Given the description of an element on the screen output the (x, y) to click on. 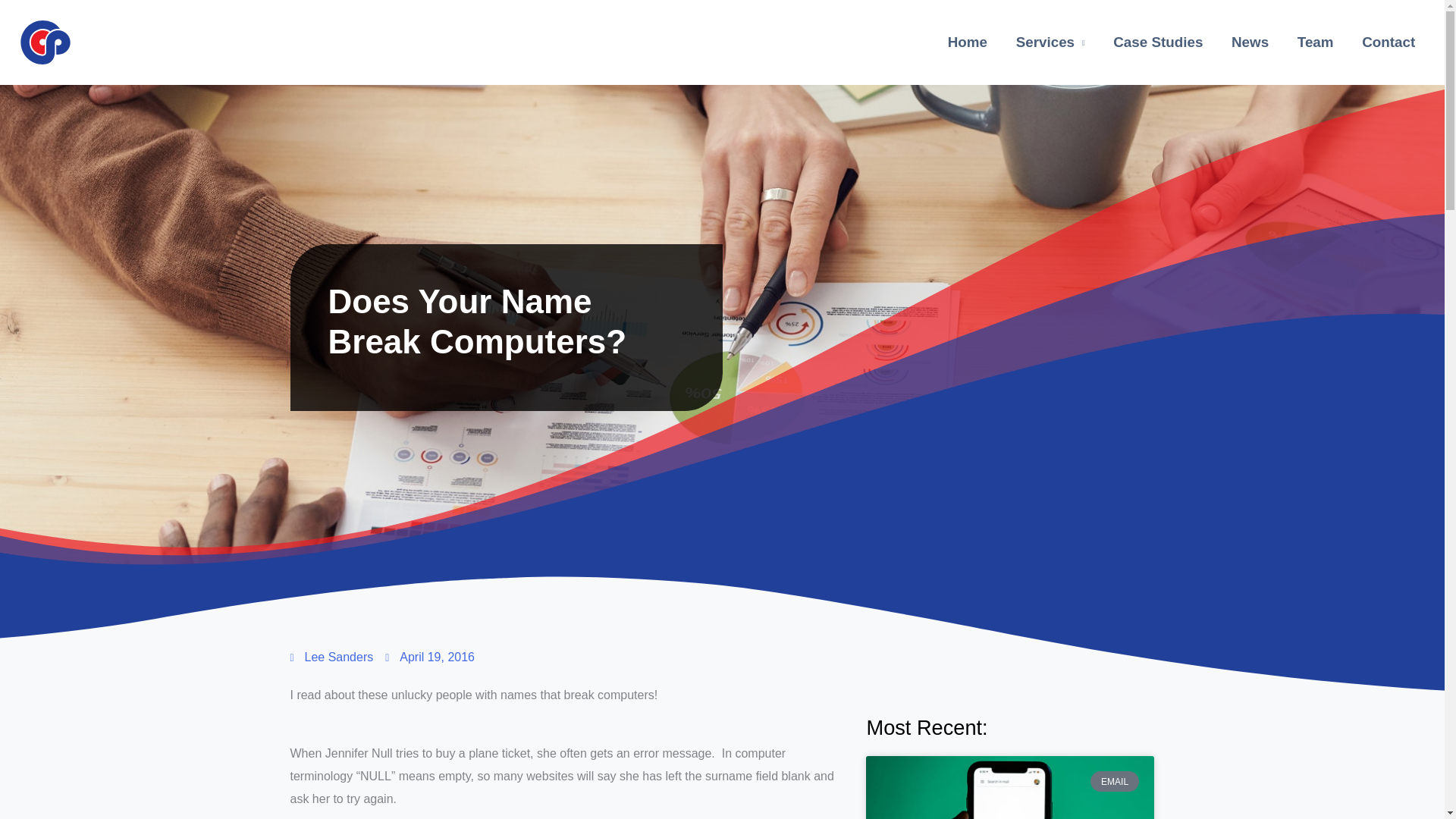
Contact (1388, 42)
April 19, 2016 (429, 657)
Case Studies (1158, 42)
Services (1050, 42)
Lee Sanders (330, 657)
